Given the description of an element on the screen output the (x, y) to click on. 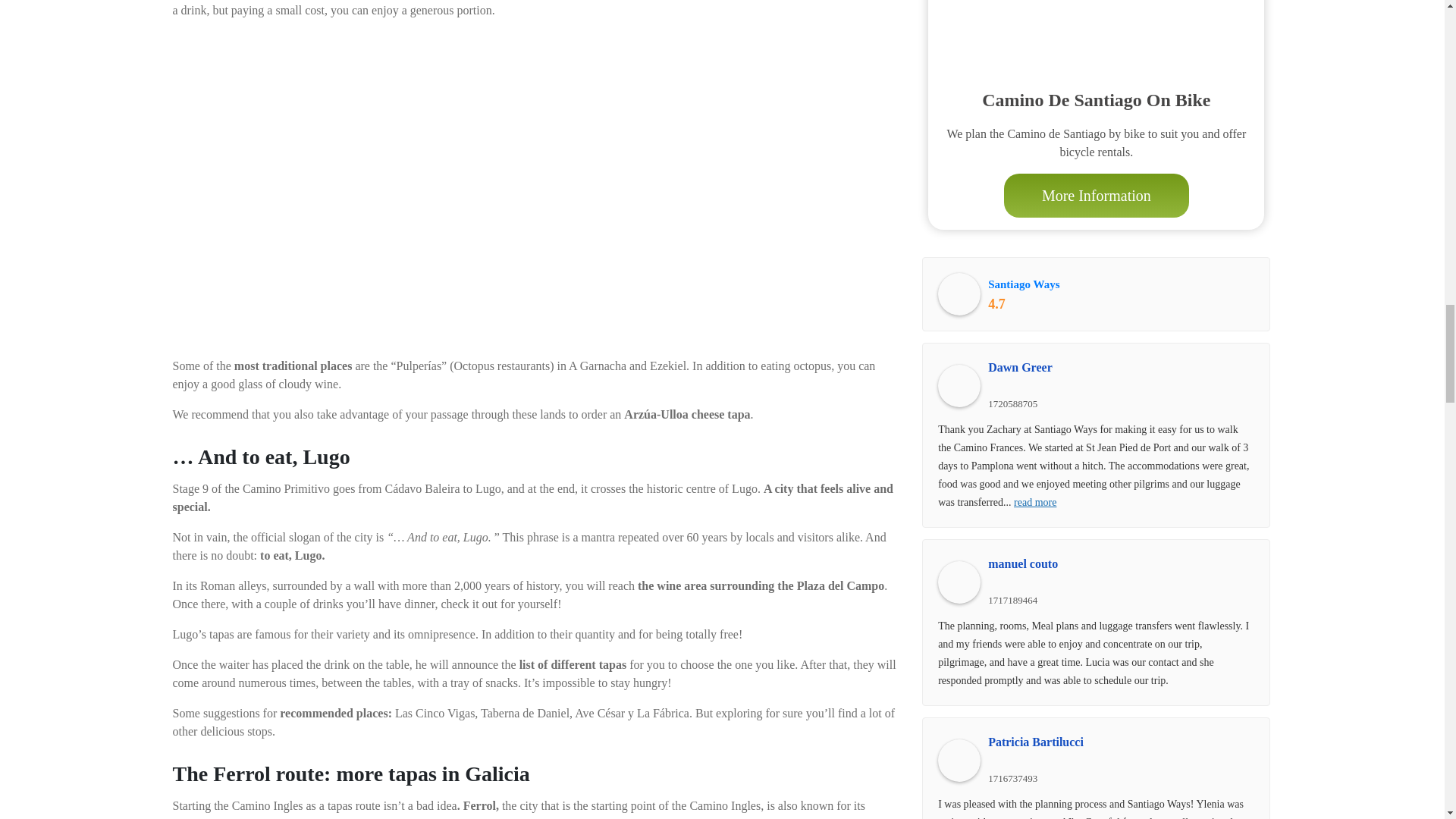
Santiago Ways (958, 293)
